Given the description of an element on the screen output the (x, y) to click on. 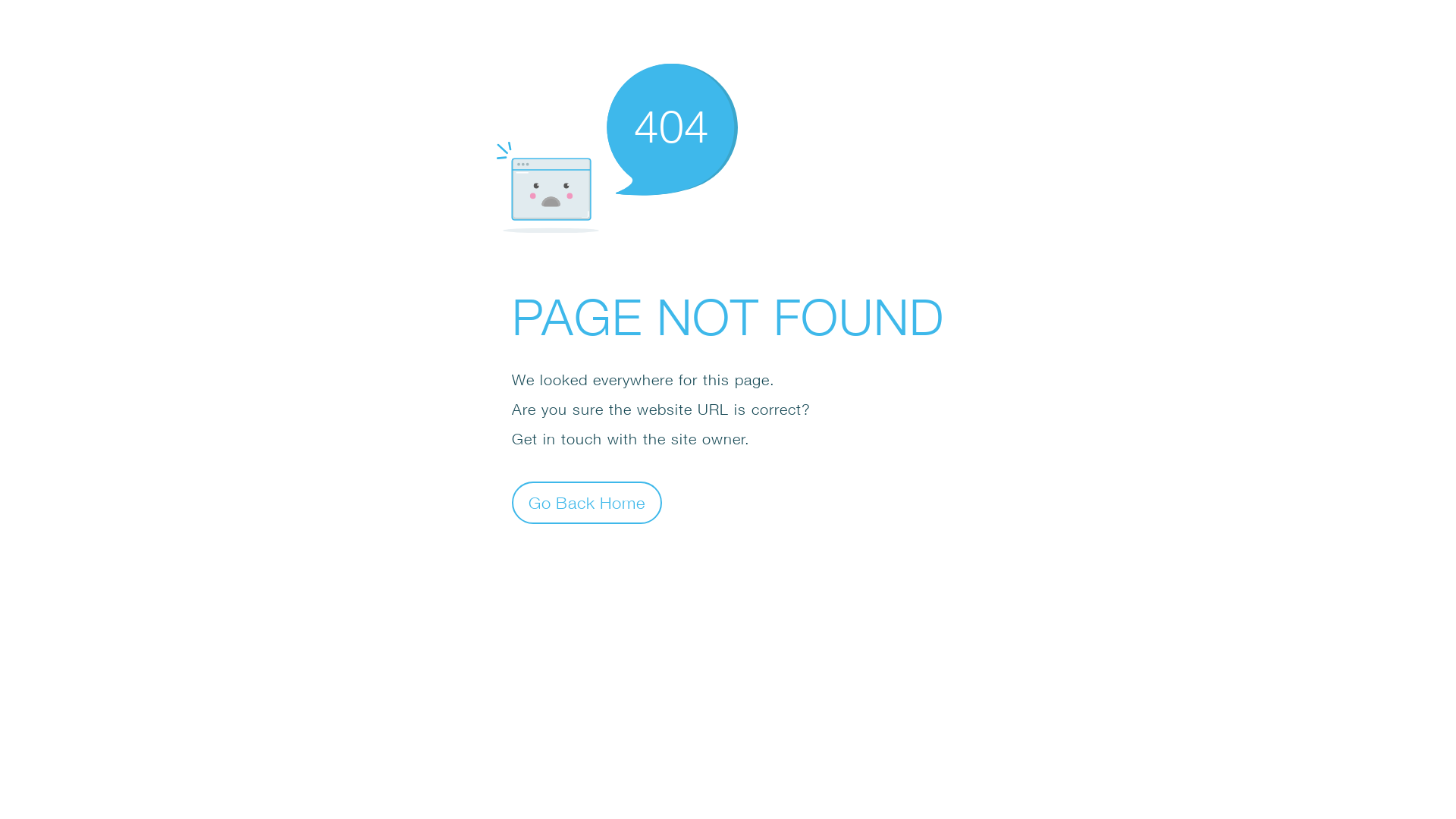
Go Back Home Element type: text (586, 502)
